Given the description of an element on the screen output the (x, y) to click on. 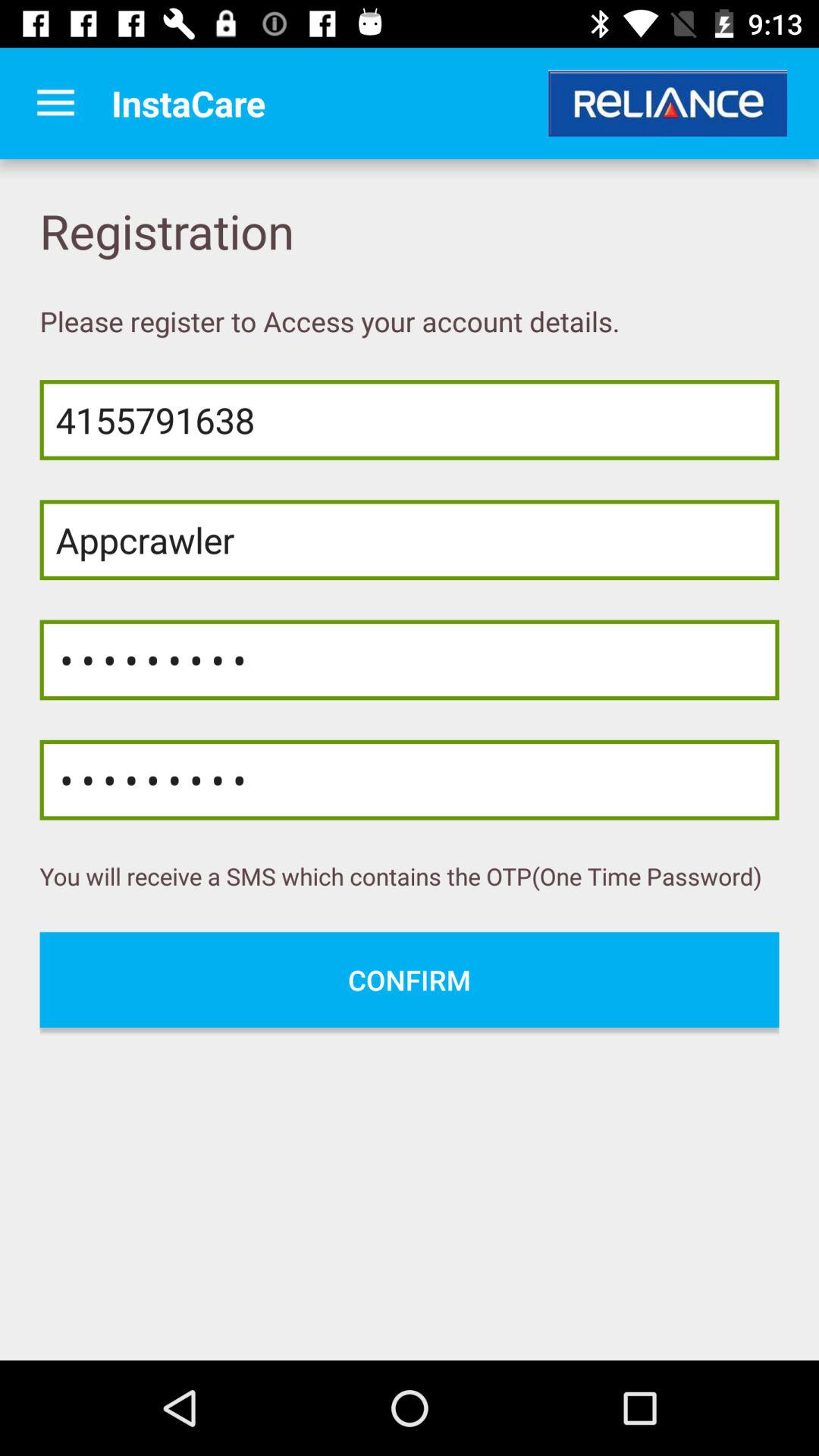
turn off the confirm icon (409, 979)
